Given the description of an element on the screen output the (x, y) to click on. 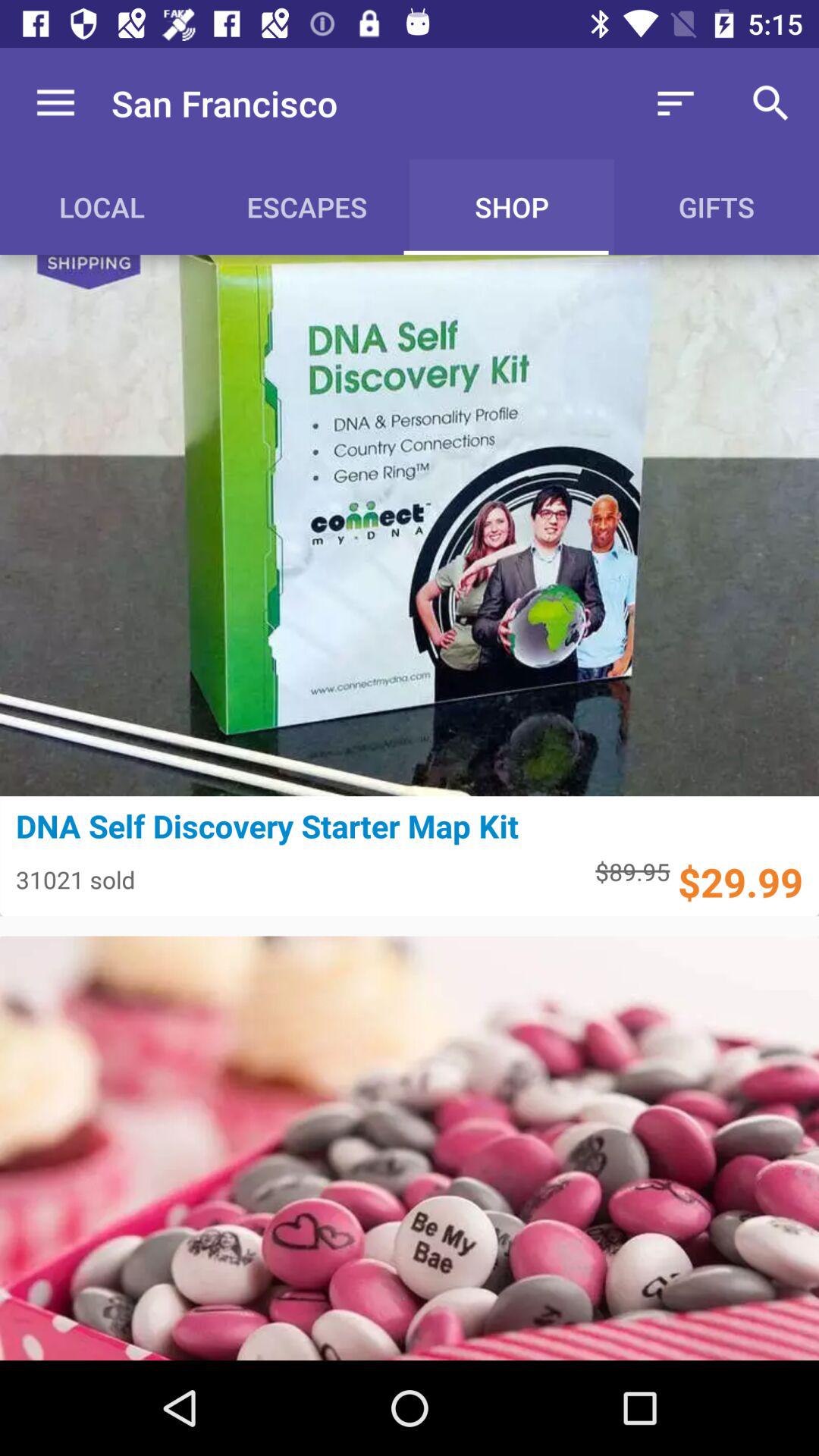
select icon above the gifts item (771, 103)
